Given the description of an element on the screen output the (x, y) to click on. 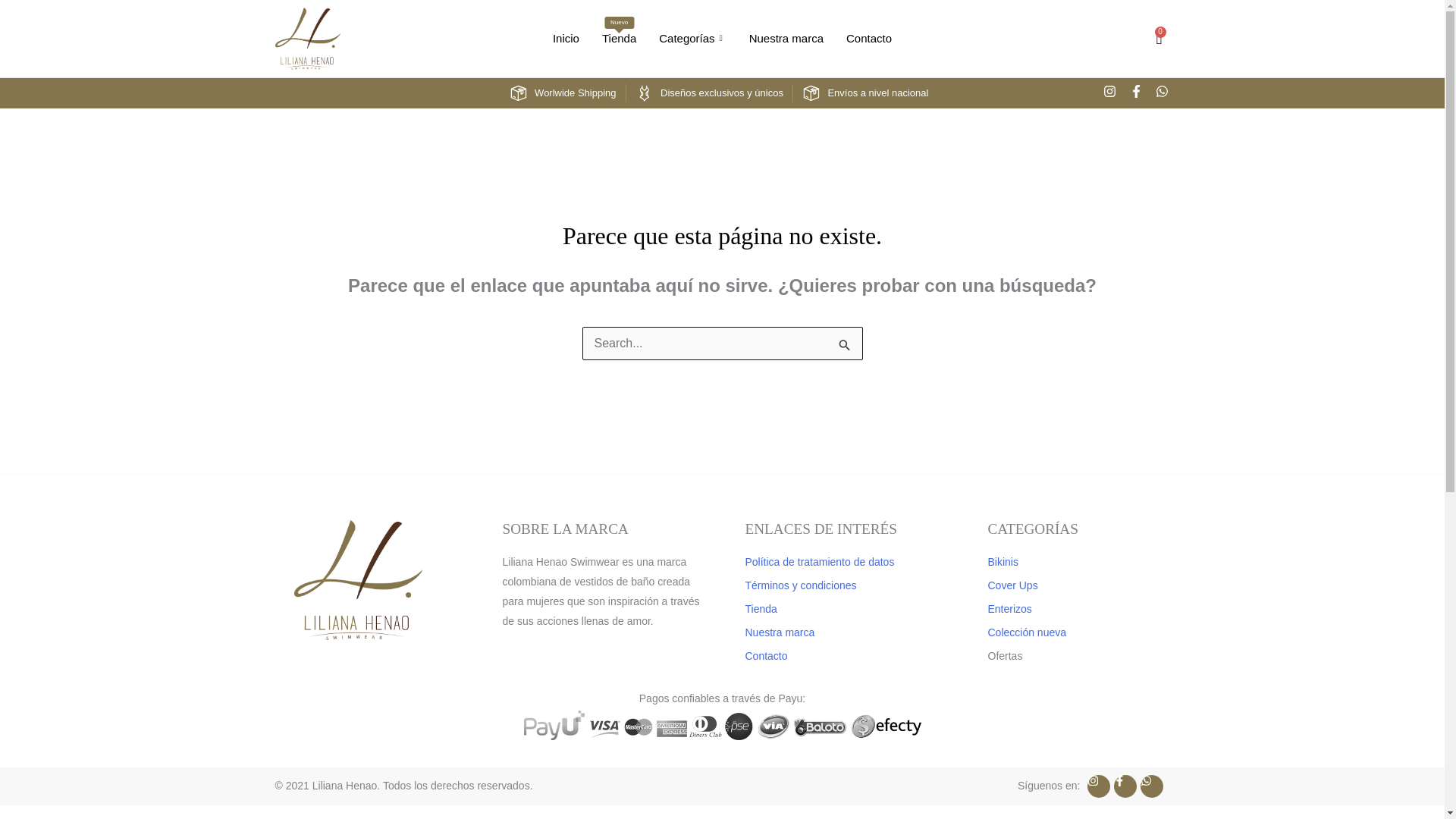
Whatsapp (1163, 92)
Instagram (1110, 92)
Facebook-f (1136, 92)
Nuestra marca (786, 38)
Contacto (619, 38)
Inicio (868, 38)
